Given the description of an element on the screen output the (x, y) to click on. 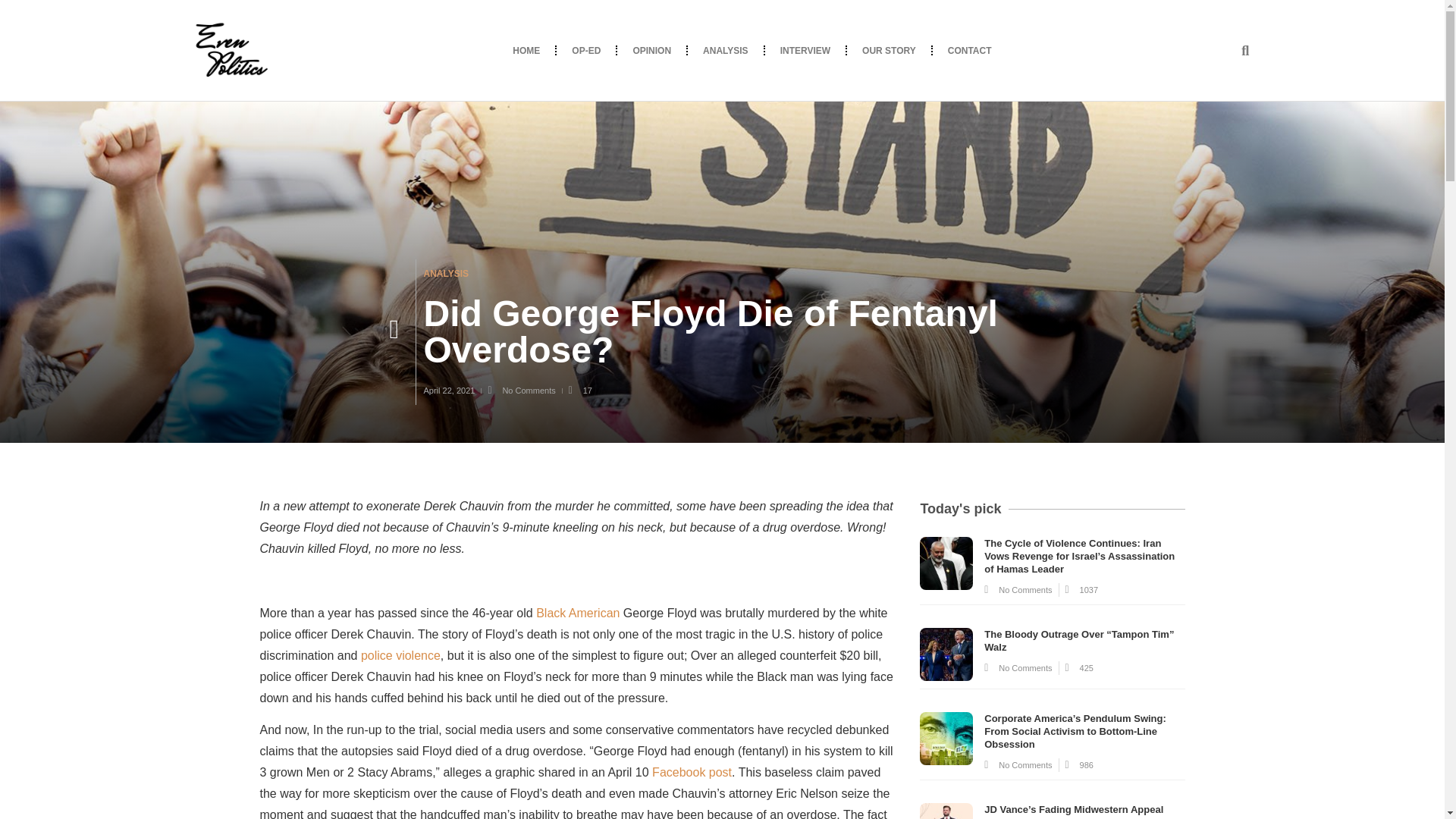
police violence (401, 655)
OP-ED (585, 50)
Facebook post (692, 771)
No Comments (520, 390)
HOME (525, 50)
ANALYSIS (445, 273)
ANALYSIS (724, 50)
CONTACT (970, 50)
INTERVIEW (805, 50)
OPINION (651, 50)
